Given the description of an element on the screen output the (x, y) to click on. 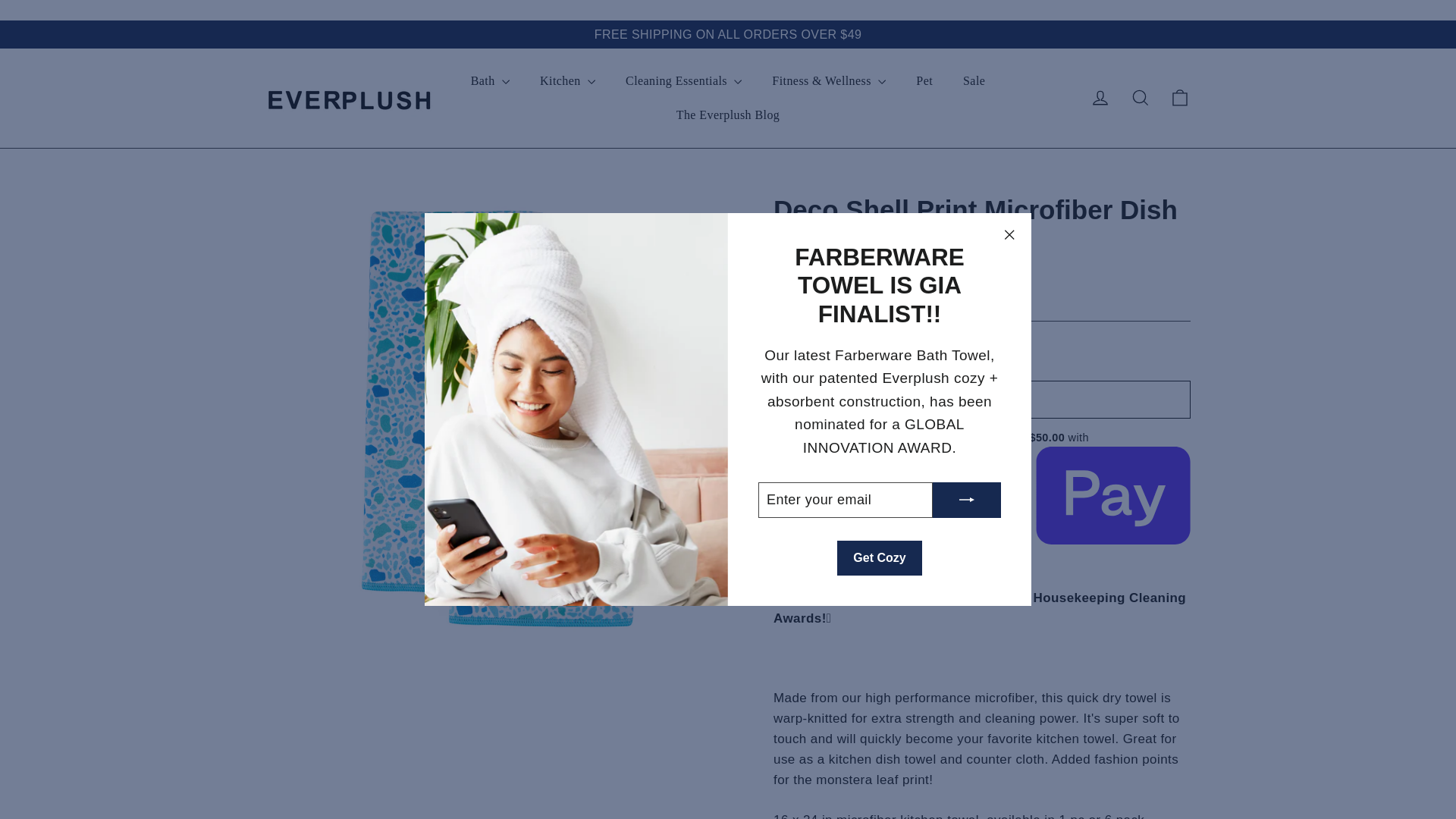
icon-bag-minimal (1180, 97)
icon-X (1009, 234)
account (1099, 97)
icon-search (1140, 97)
